Given the description of an element on the screen output the (x, y) to click on. 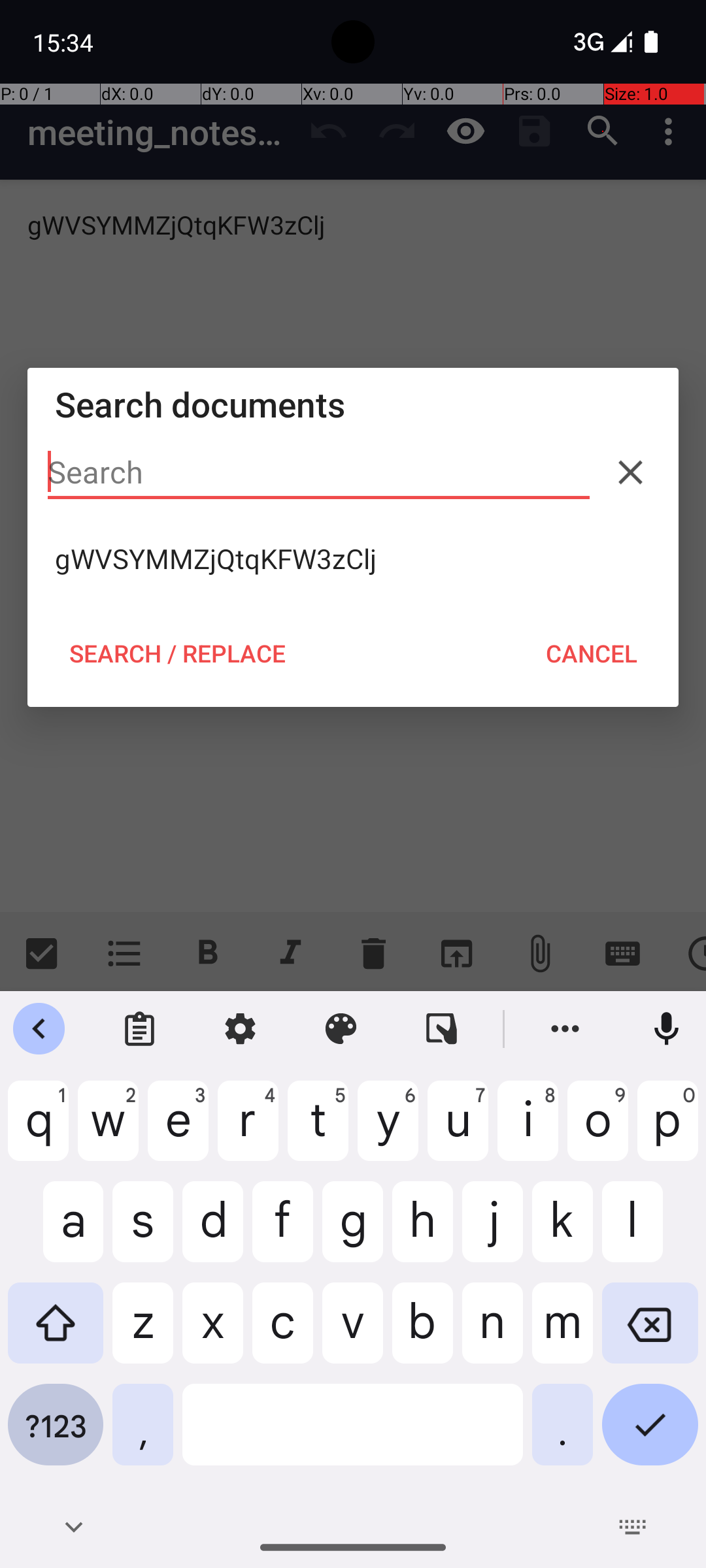
Search documents Element type: android.widget.TextView (352, 403)
gWVSYMMZjQtqKFW3zClj Element type: android.widget.TextView (352, 558)
SEARCH / REPLACE Element type: android.widget.Button (176, 652)
Theme settings Element type: android.widget.FrameLayout (340, 1028)
One handed mode Element type: android.widget.FrameLayout (441, 1028)
Done Element type: android.widget.FrameLayout (649, 1434)
